Given the description of an element on the screen output the (x, y) to click on. 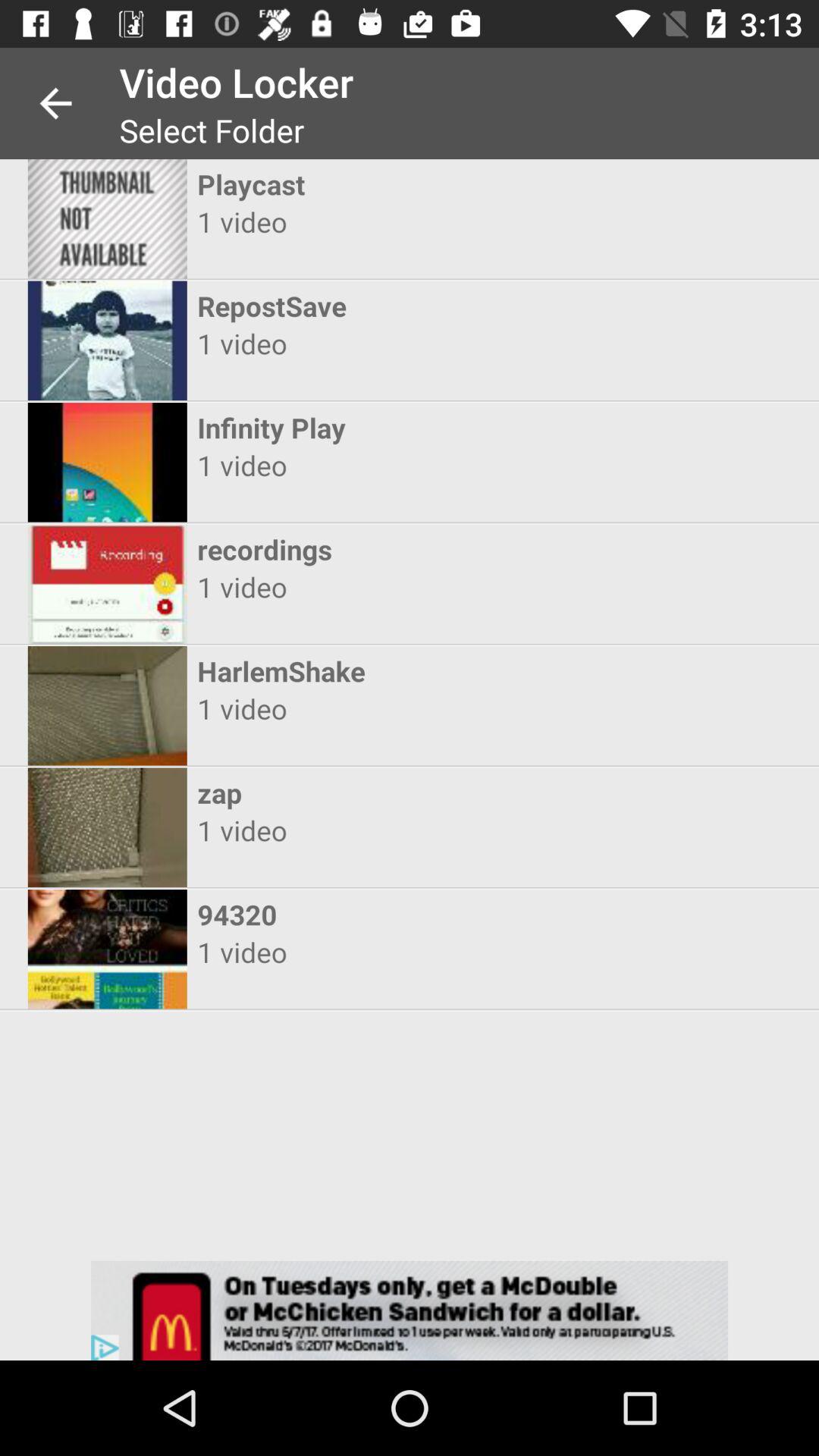
turn on item above 1 video icon (396, 670)
